Given the description of an element on the screen output the (x, y) to click on. 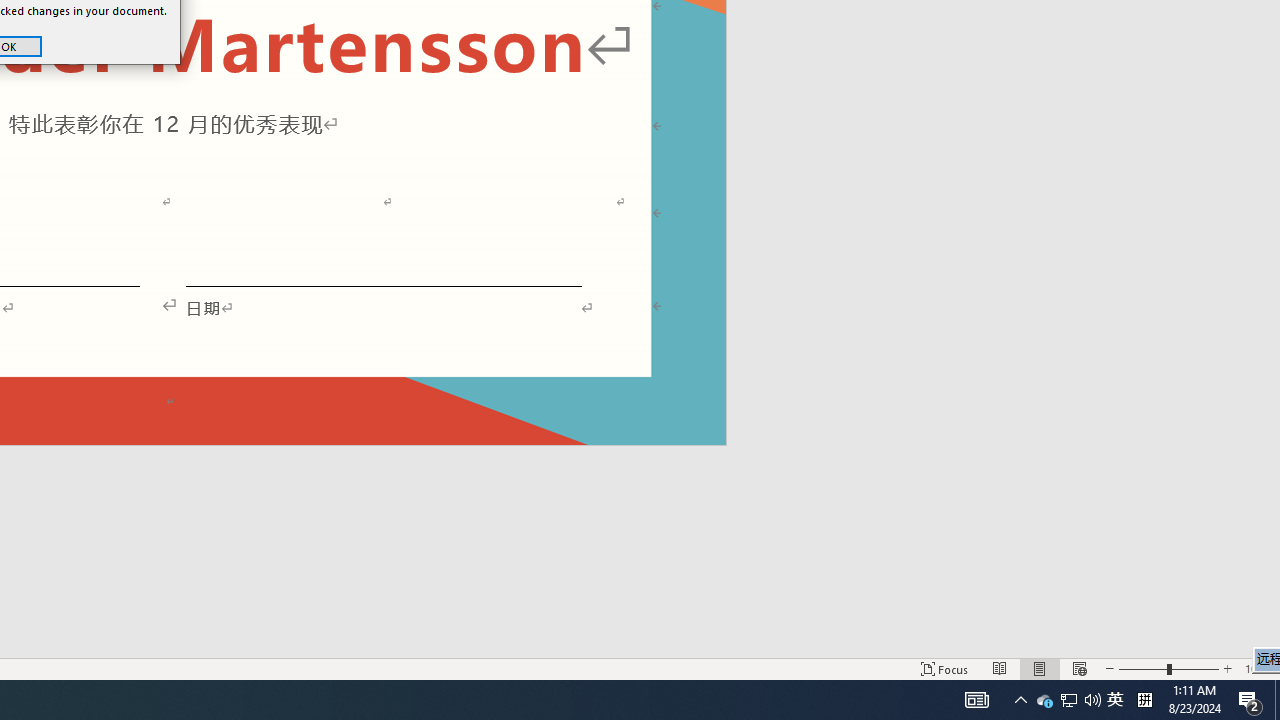
Action Center, 2 new notifications (1250, 699)
Zoom (1168, 668)
AutomationID: 4105 (1044, 699)
Show desktop (976, 699)
